Given the description of an element on the screen output the (x, y) to click on. 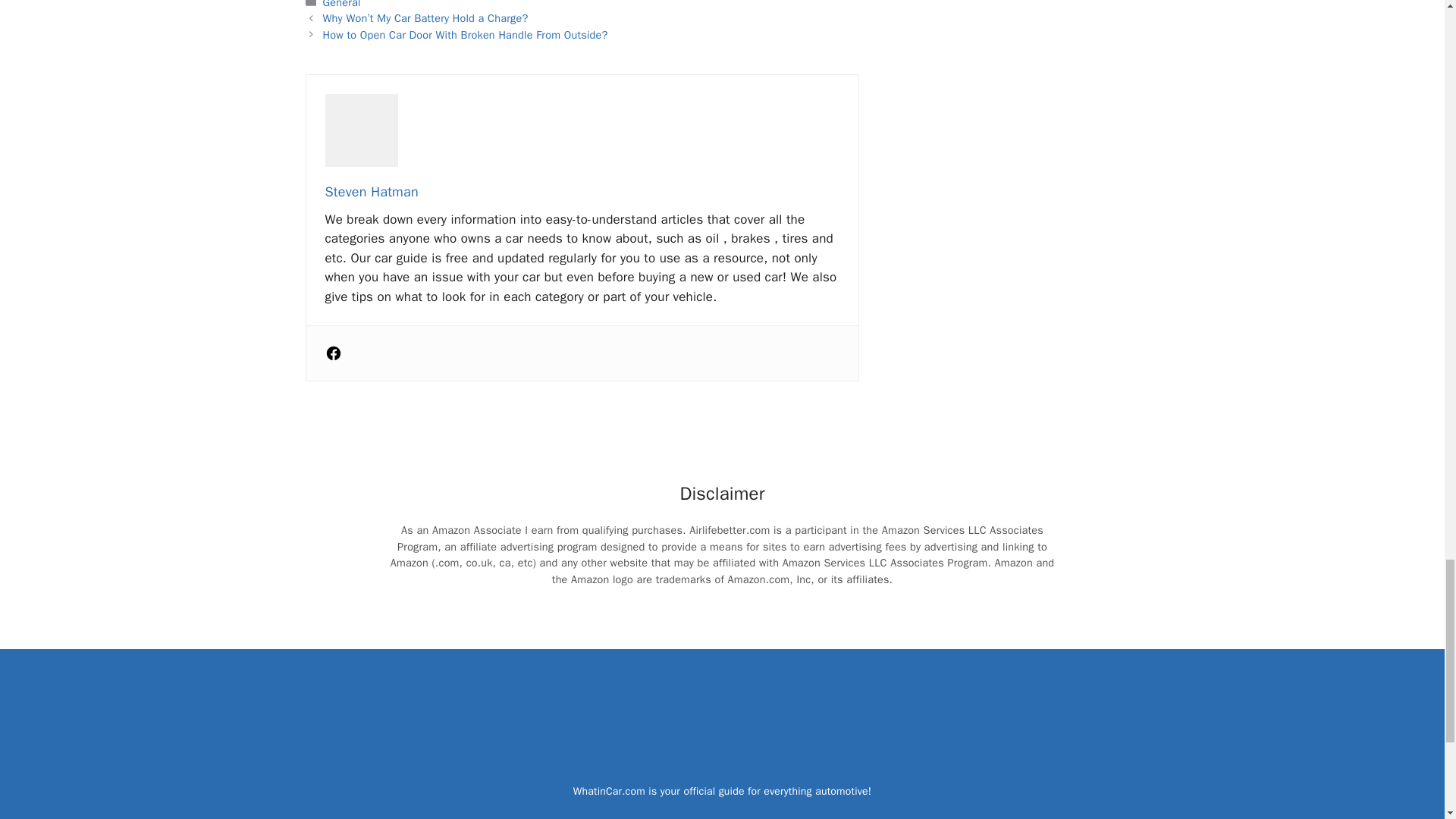
General (342, 4)
How to Open Car Door With Broken Handle From Outside? (465, 34)
Steven Hatman (370, 191)
